Given the description of an element on the screen output the (x, y) to click on. 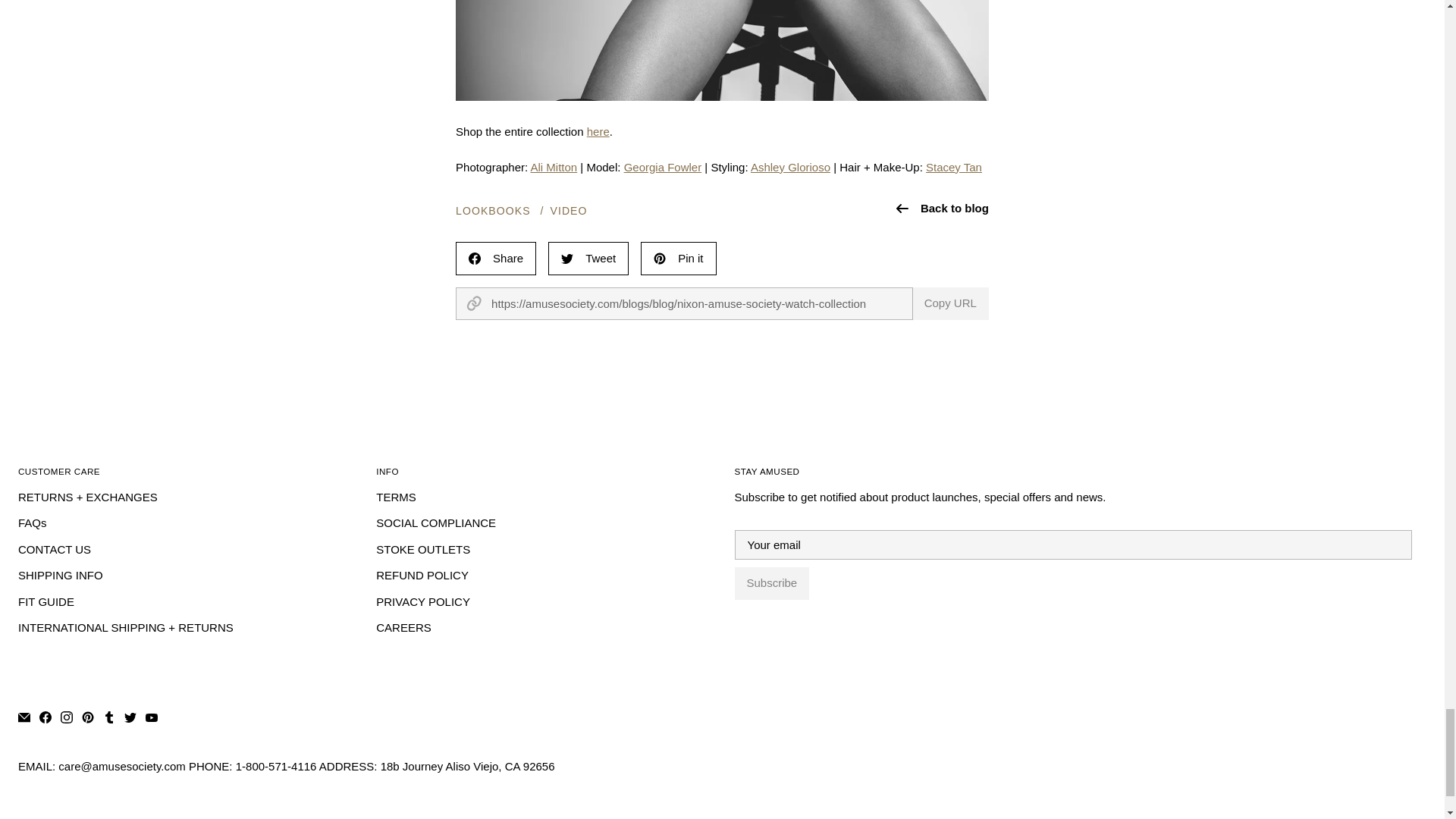
Show articles tagged Video (569, 210)
Show articles tagged Lookbooks (493, 210)
